Given the description of an element on the screen output the (x, y) to click on. 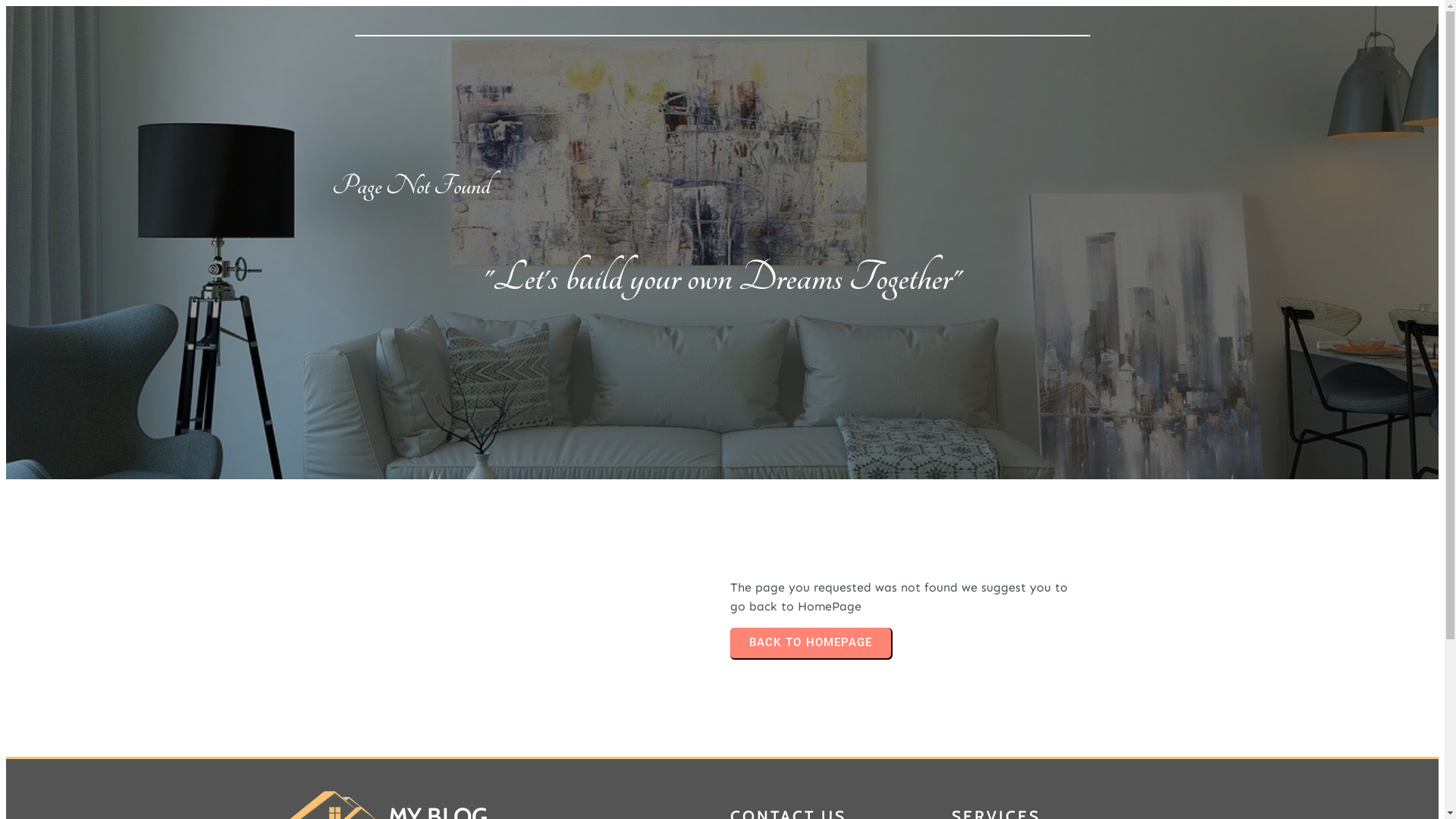
BACK TO HOMEPAGE Element type: text (809, 642)
